Given the description of an element on the screen output the (x, y) to click on. 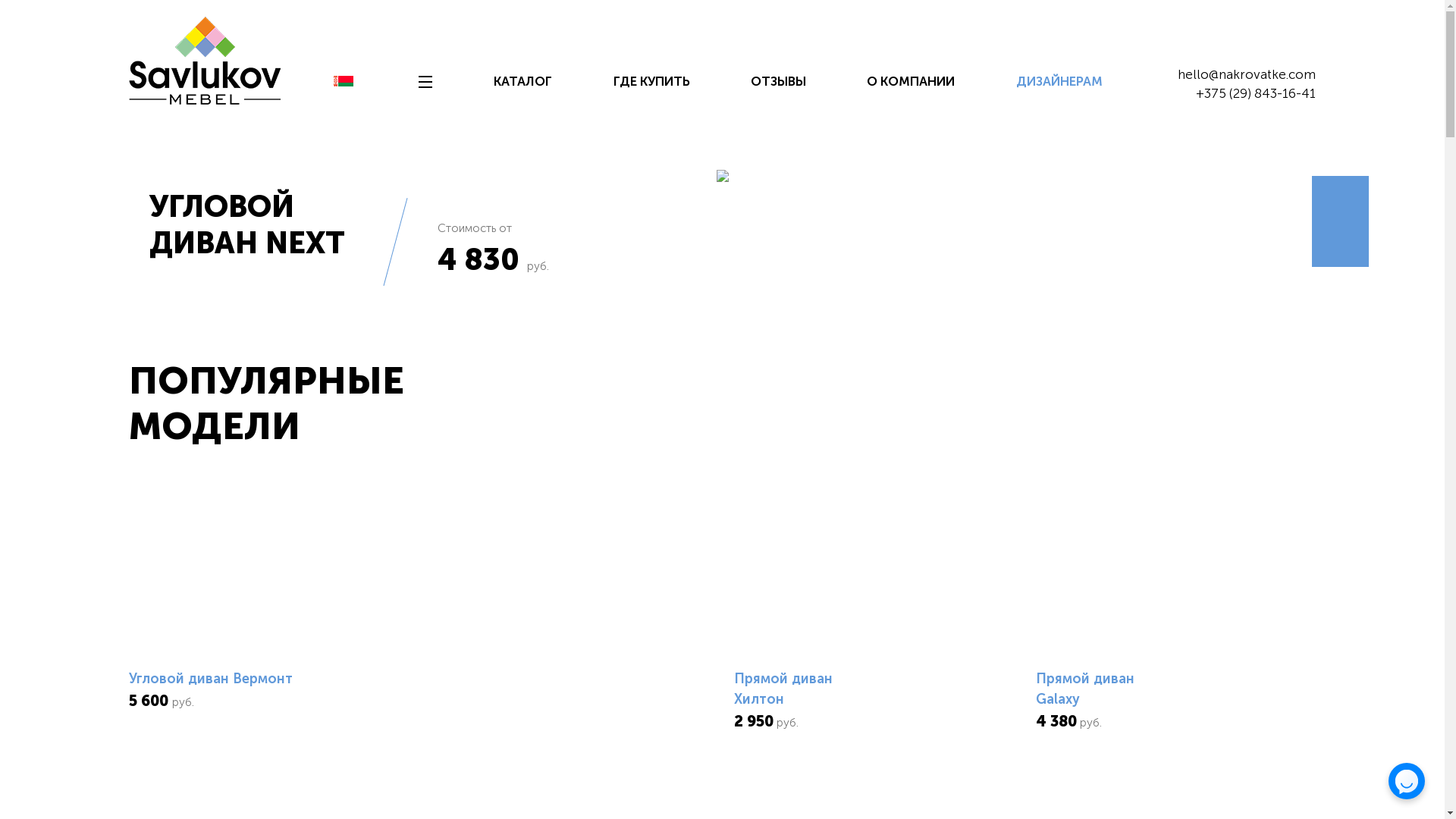
+375 (29) 843-16-41 Element type: text (1255, 92)
hello@nakrovatke.com Element type: text (1246, 73)
